Given the description of an element on the screen output the (x, y) to click on. 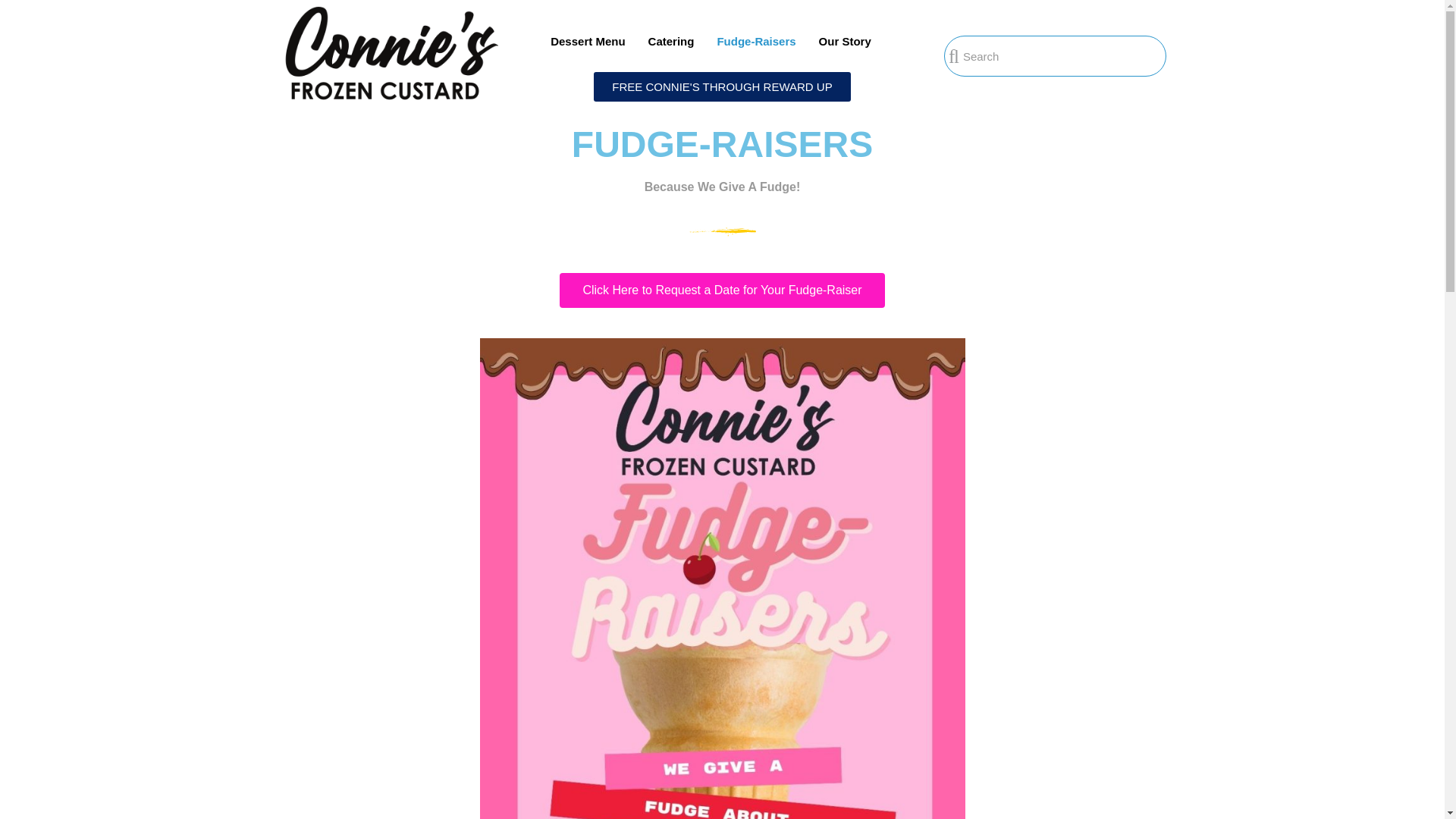
FREE CONNIE'S THROUGH REWARD UP (722, 86)
FUDGE-RAISERS (722, 144)
Fudge-Raisers (755, 41)
logo (389, 52)
Click Here to Request a Date for Your Fudge-Raiser (721, 289)
Catering (670, 41)
Dessert Menu (587, 41)
Our Story (844, 41)
Search (1062, 56)
